Given the description of an element on the screen output the (x, y) to click on. 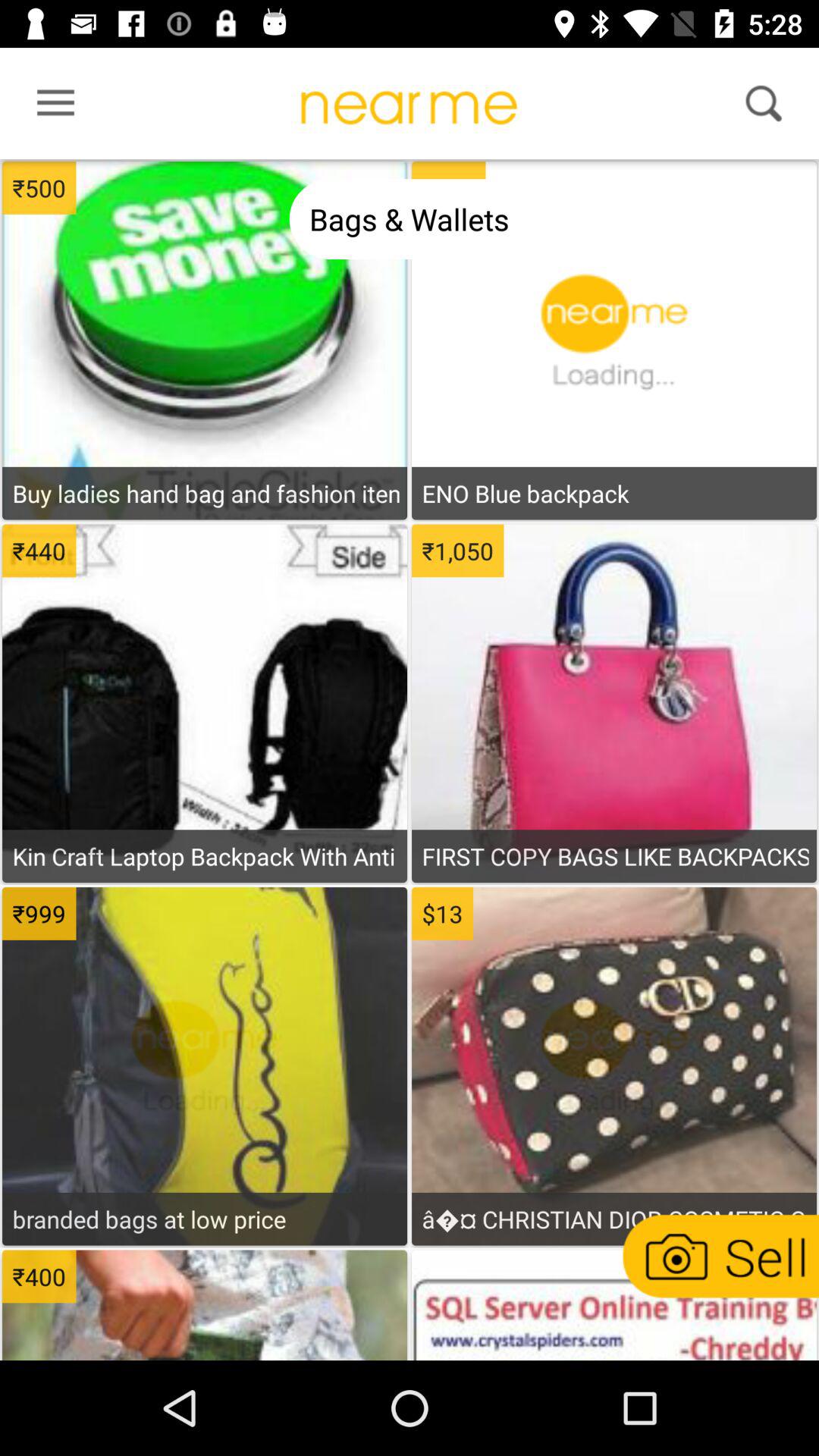
menu (50, 107)
